Given the description of an element on the screen output the (x, y) to click on. 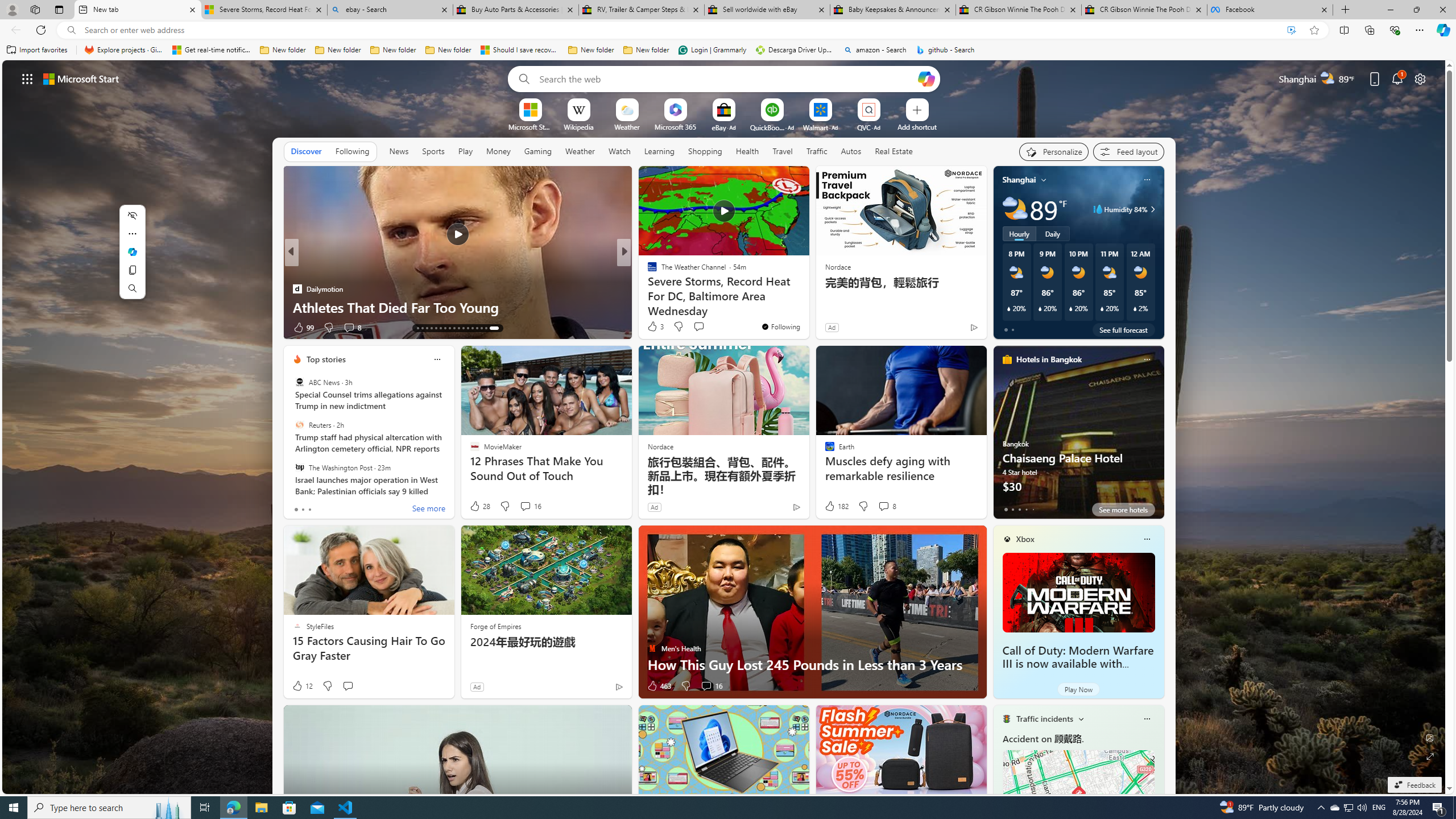
AutomationID: tab-25 (478, 328)
tab-1 (1012, 509)
View comments 96 Comment (703, 327)
Sports (432, 151)
Weather (579, 151)
Personalize your feed" (1054, 151)
Baby Keepsakes & Announcements for sale | eBay (892, 9)
Top stories (325, 359)
